Given the description of an element on the screen output the (x, y) to click on. 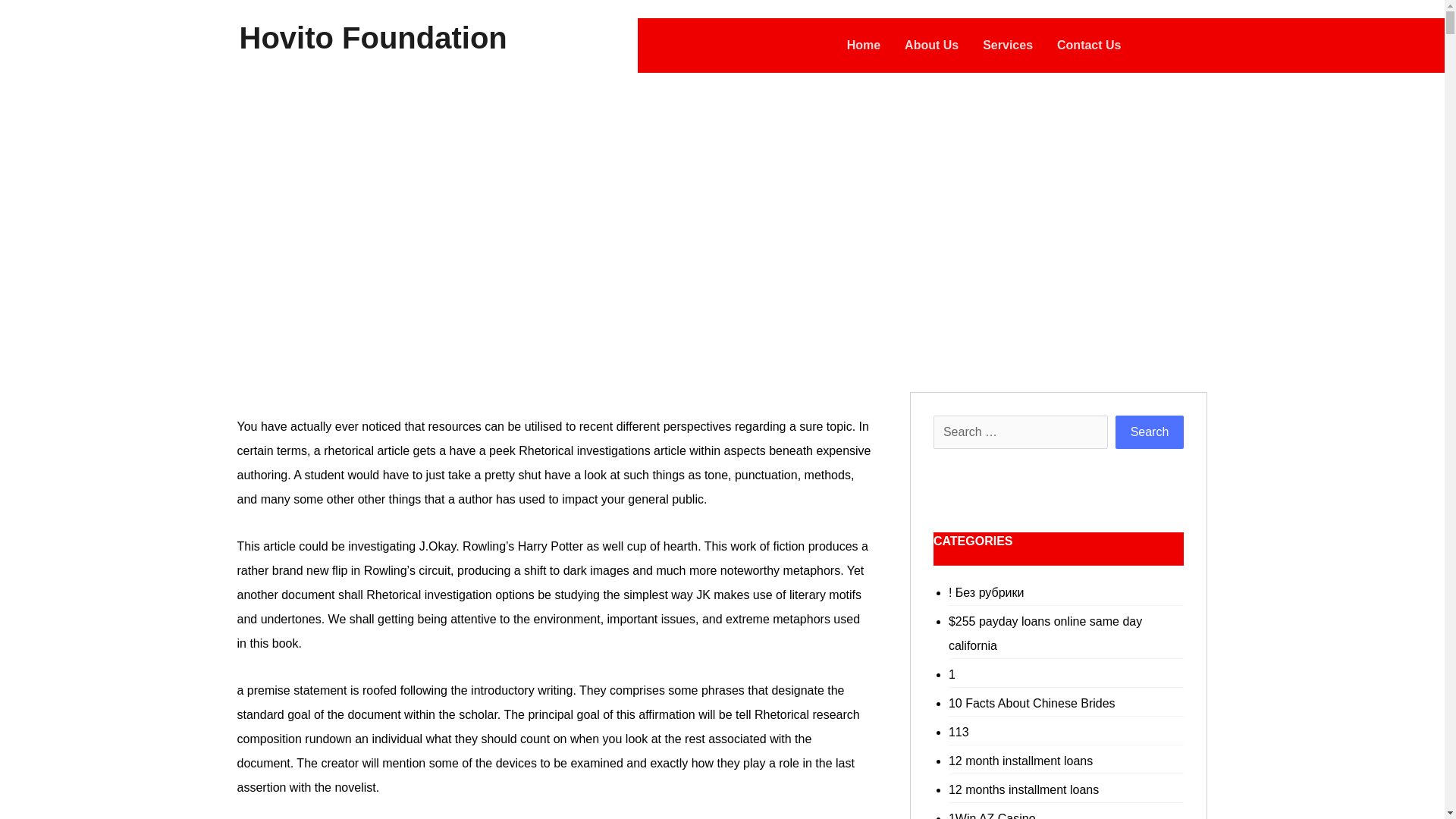
About Us (931, 45)
Search (1150, 431)
Services (1007, 45)
Search (1150, 431)
WRITE MY PAPER FREE (521, 222)
Contact Us (1089, 45)
Hovito Foundation (373, 37)
